Given the description of an element on the screen output the (x, y) to click on. 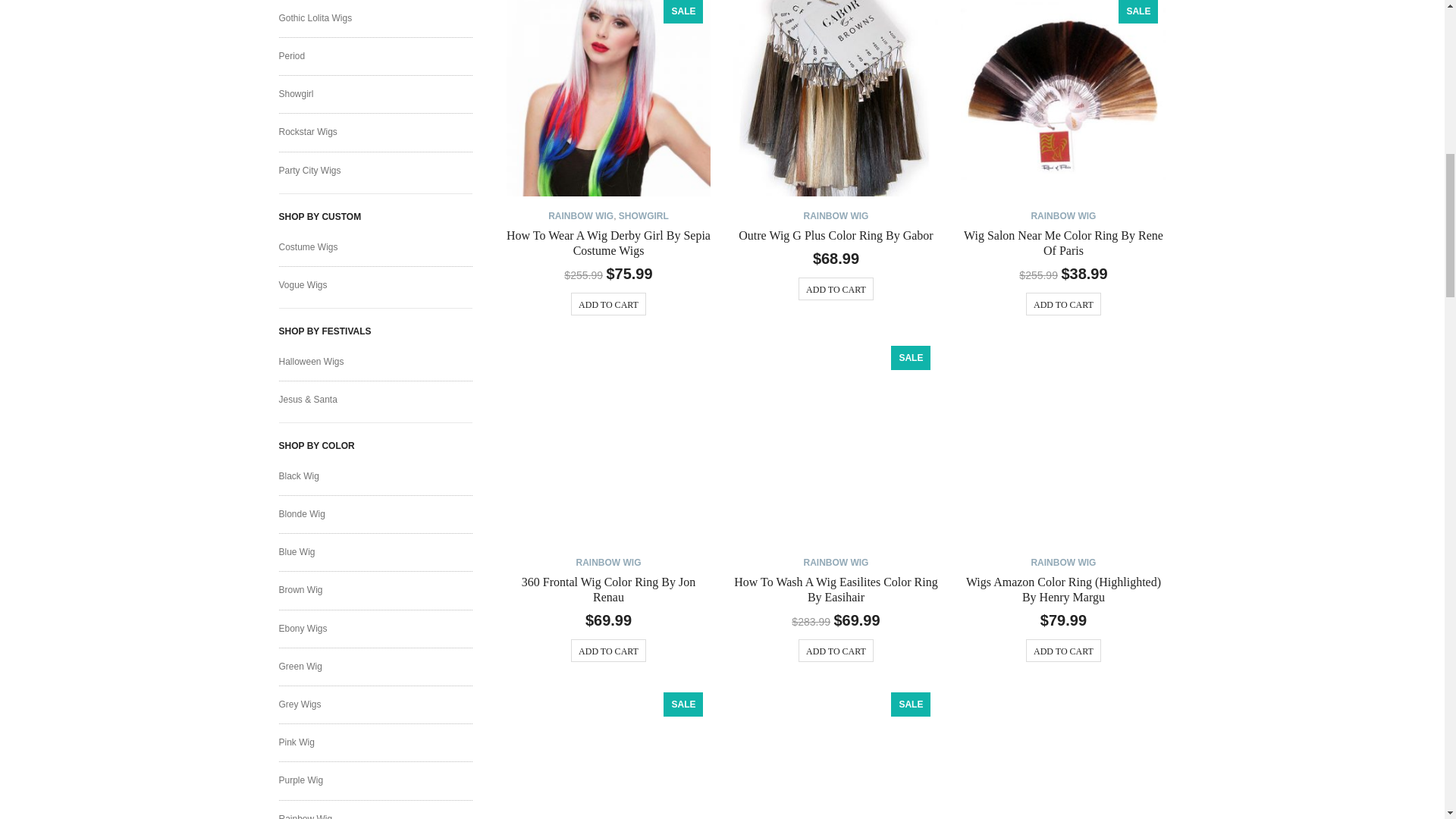
Outre Wig G Plus Color Ring By Gabor (835, 98)
Wig Salon Near Me Color Ring By Rene Of Paris (1063, 243)
Outre Wig G Plus Color Ring By Gabor (835, 235)
Wig Salon Near Me Color Ring By Rene Of Paris (1063, 98)
360 Frontal Wig Color Ring By Jon Renau (608, 440)
How To Wear A Wig Derby Girl By Sepia Costume Wigs (608, 98)
How To Wear A Wig Derby Girl By Sepia Costume Wigs (608, 243)
